Given the description of an element on the screen output the (x, y) to click on. 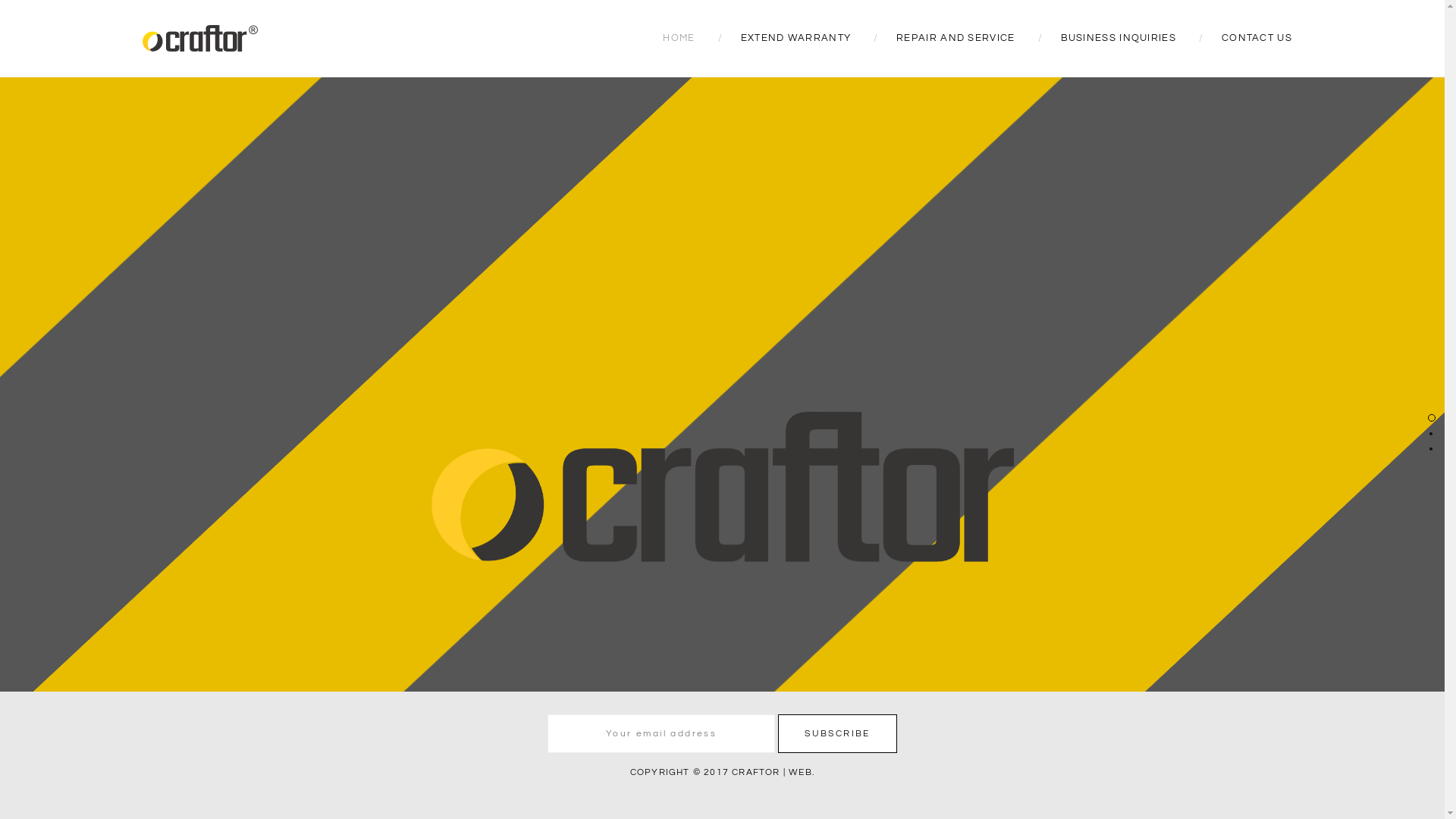
CONTACT US Element type: text (1256, 37)
Subscribe Element type: text (837, 733)
REPAIR AND SERVICE Element type: text (955, 37)
HOME Element type: text (678, 37)
BUSINESS INQUIRIES Element type: text (1118, 37)
WEB. Element type: text (801, 772)
EXTEND WARRANTY Element type: text (795, 37)
